Given the description of an element on the screen output the (x, y) to click on. 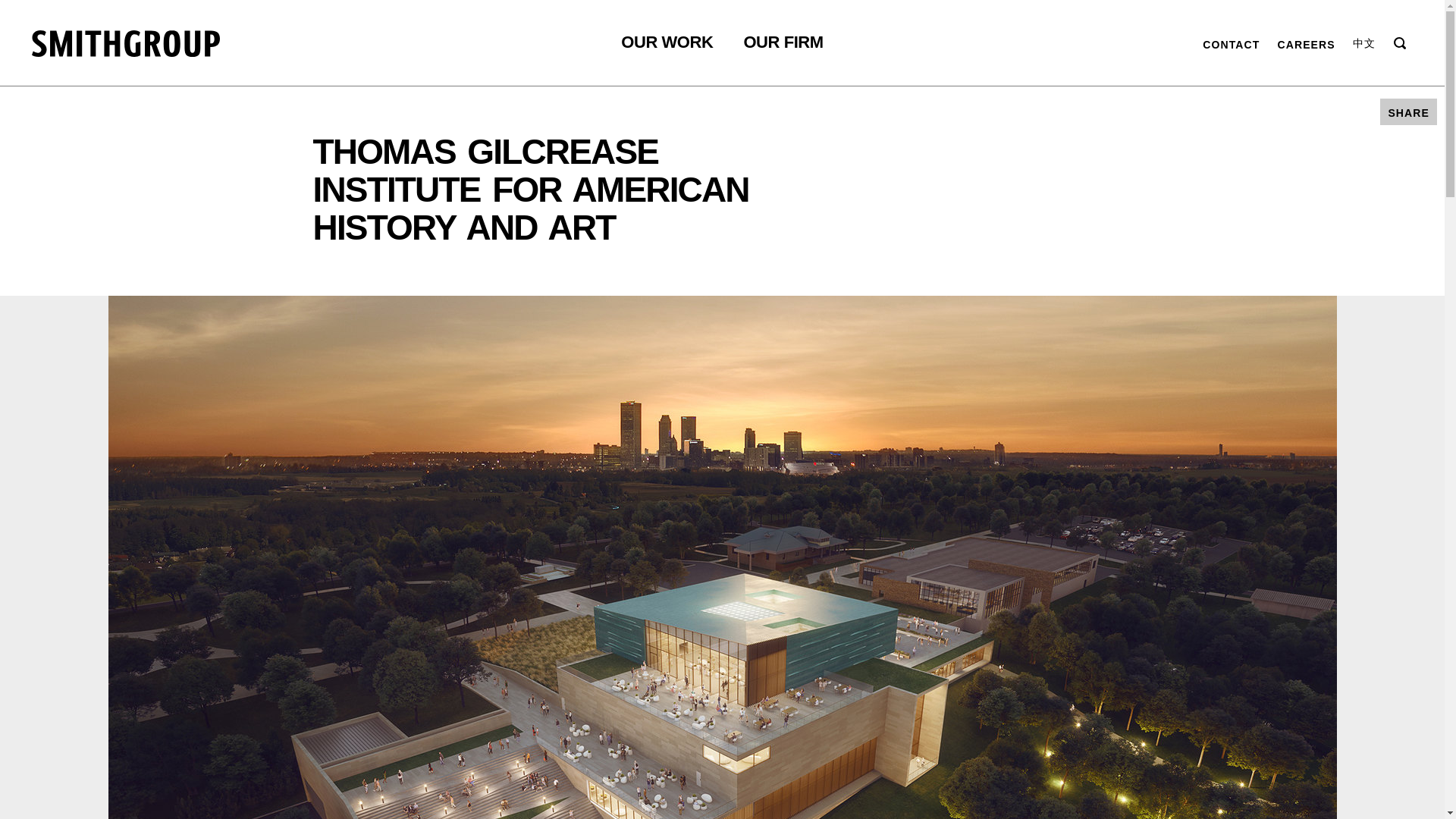
CAREERS (1305, 43)
Home (125, 43)
Skip to main content (29, 7)
CONTACT (1230, 43)
